Given the description of an element on the screen output the (x, y) to click on. 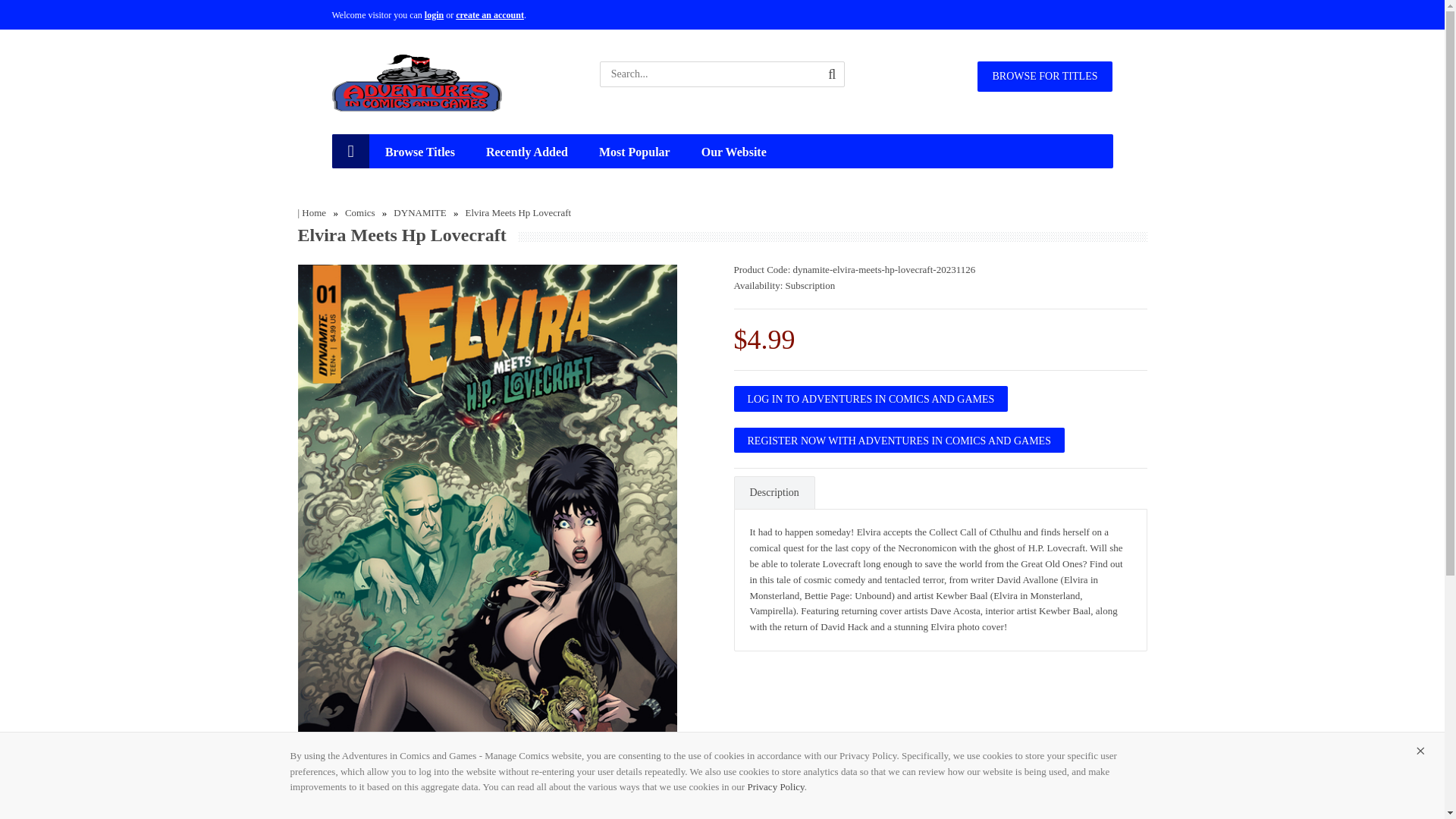
Comics (360, 212)
DYNAMITE (419, 212)
REGISTER NOW WITH ADVENTURES IN COMICS AND GAMES (898, 439)
Our Website (733, 151)
Most Popular (634, 151)
Browse Titles (419, 151)
Adventures in Comics and Games (416, 82)
BROWSE FOR TITLES (1044, 76)
Description (774, 492)
LOG IN TO ADVENTURES IN COMICS AND GAMES (871, 398)
